Given the description of an element on the screen output the (x, y) to click on. 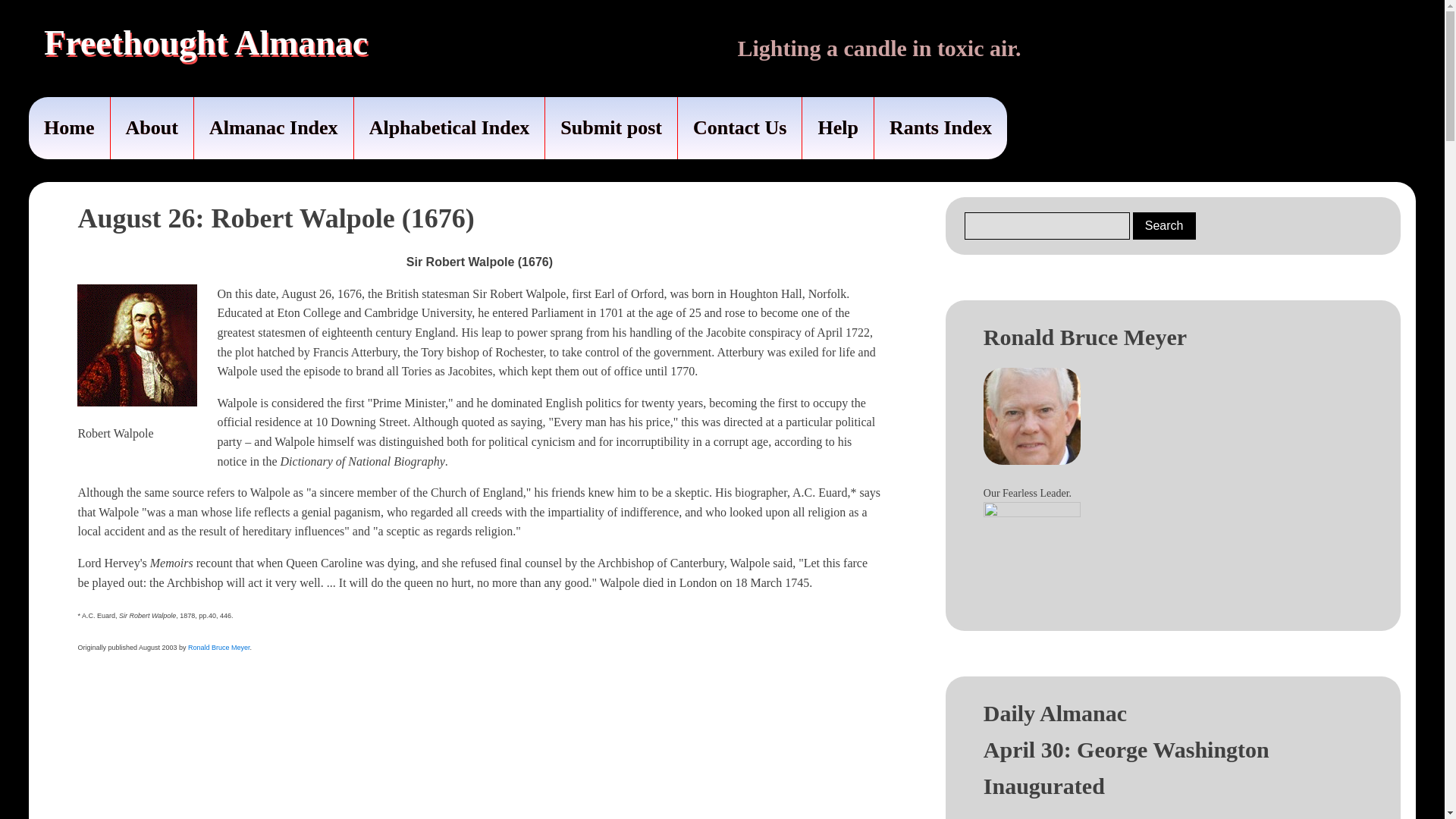
Ronald Bruce Meyer (218, 647)
Almanac Index (273, 127)
Home (69, 127)
About (151, 127)
Contact Us (740, 127)
Rants Index (941, 127)
Search (1163, 225)
Help (837, 127)
Submit post (610, 127)
walpole-r (136, 345)
Alphabetical Index (448, 127)
Search (1163, 225)
